Given the description of an element on the screen output the (x, y) to click on. 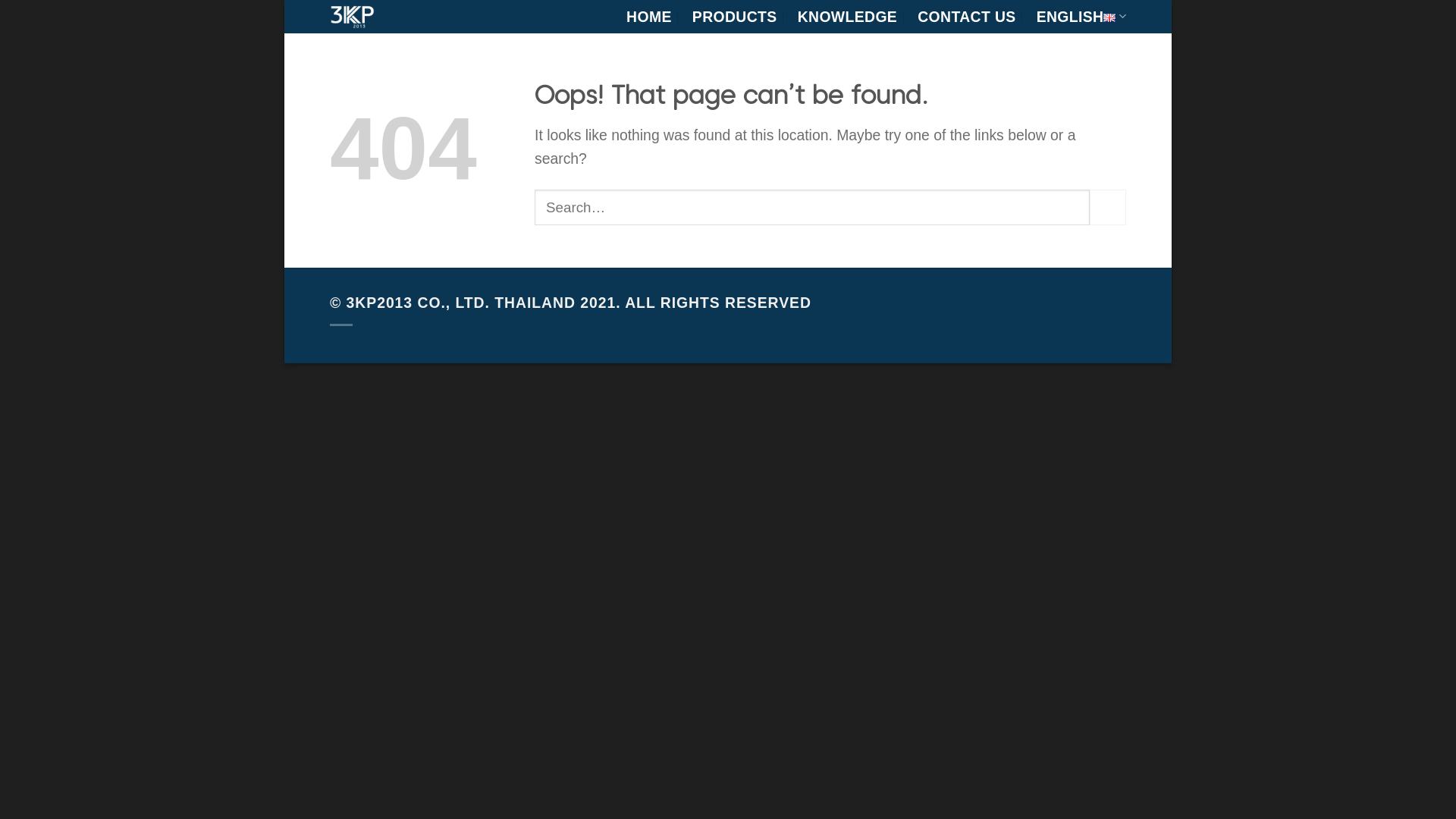
CONTACT US Element type: text (966, 16)
ENGLISH Element type: text (1081, 16)
Skip to content Element type: text (284, 0)
KNOWLEDGE Element type: text (847, 16)
3KP - SEBBIN Distributor of Thailand Element type: hover (405, 16)
HOME Element type: text (648, 16)
PRODUCTS Element type: text (734, 16)
